Given the description of an element on the screen output the (x, y) to click on. 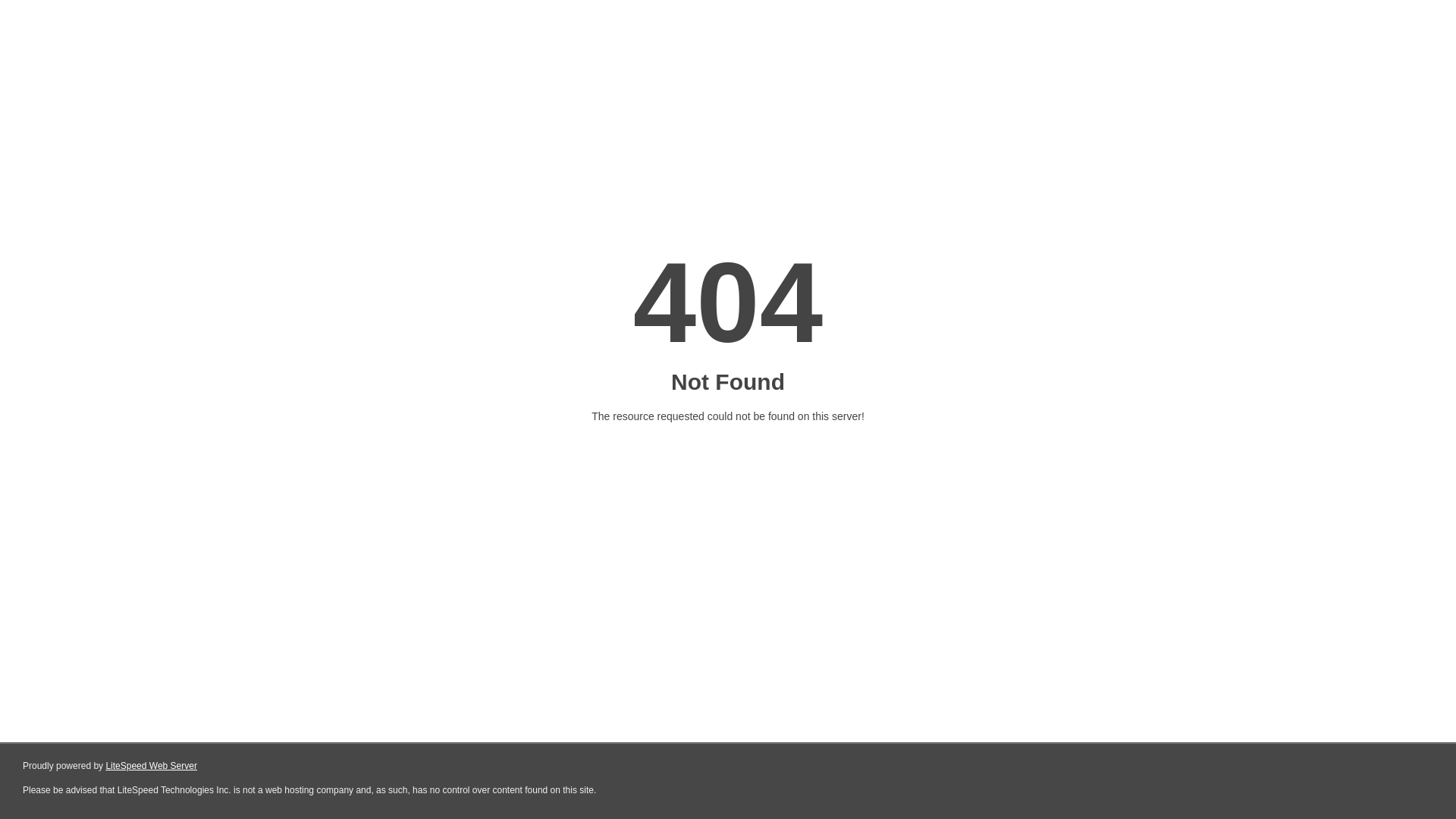
LiteSpeed Web Server Element type: text (151, 765)
